Given the description of an element on the screen output the (x, y) to click on. 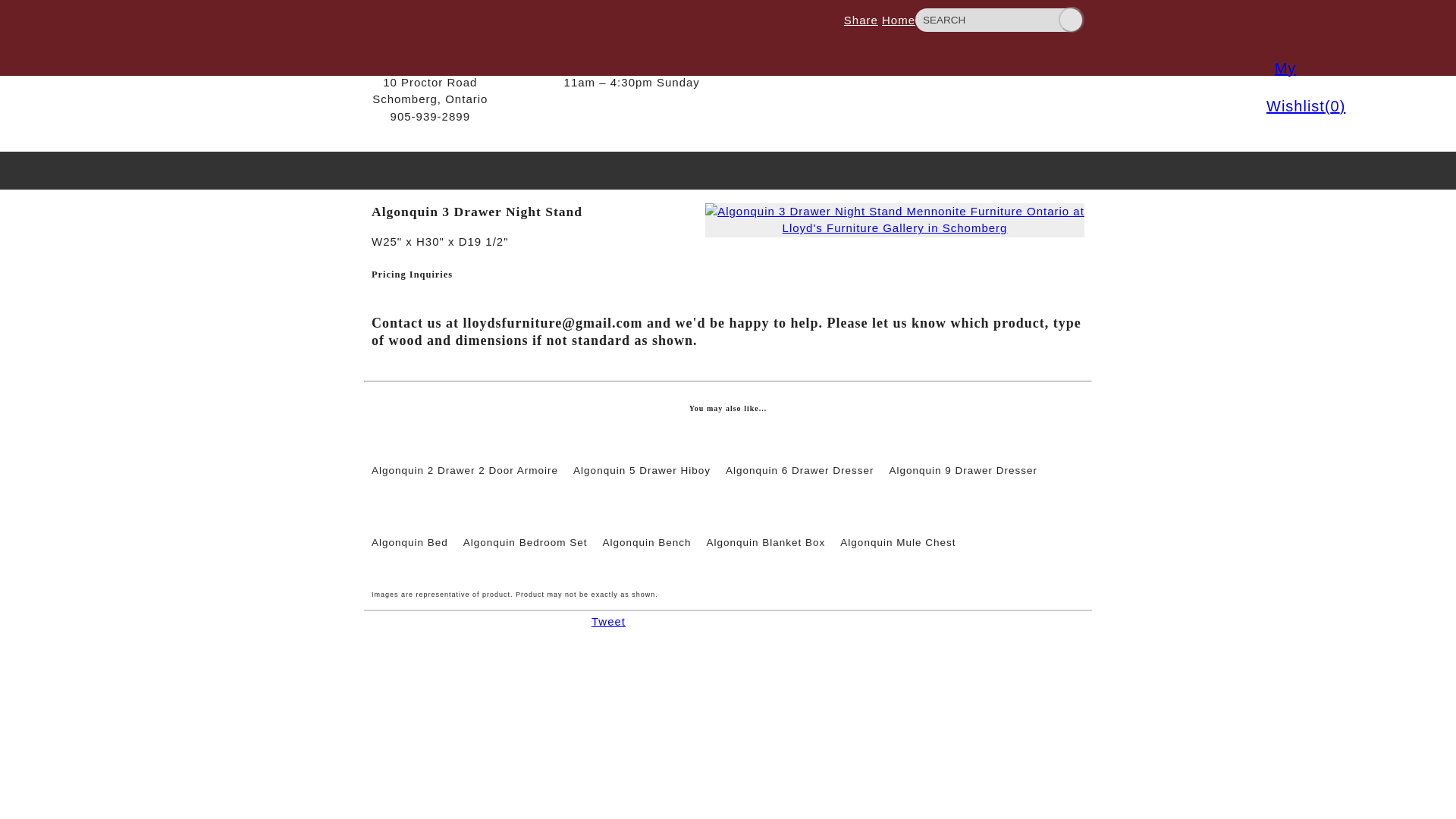
Share (860, 19)
Schomberg Gallery (430, 64)
Home (898, 19)
